Given the description of an element on the screen output the (x, y) to click on. 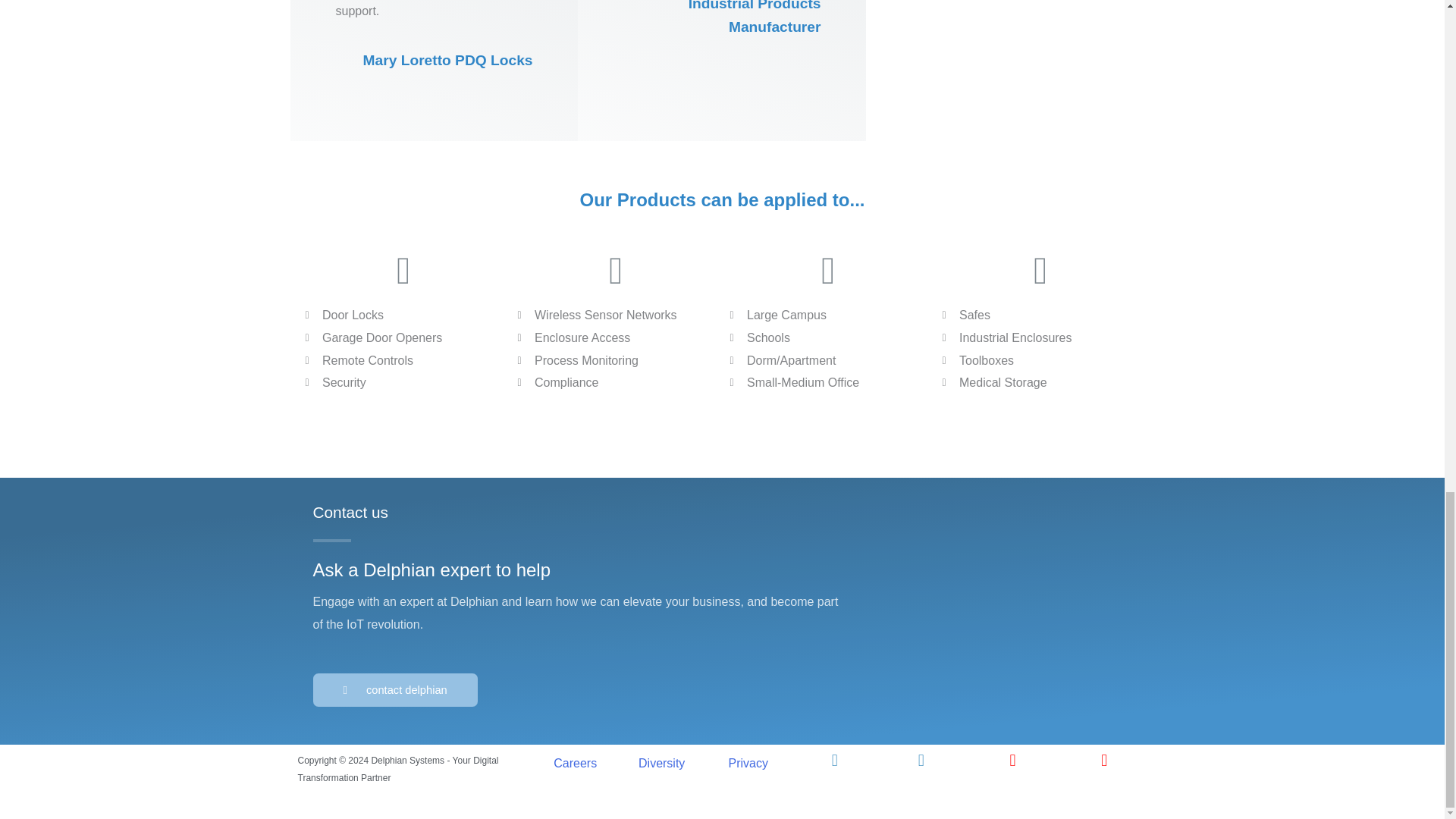
Privacy (747, 762)
Careers (574, 762)
contact delphian (395, 689)
Diversity (661, 762)
